Given the description of an element on the screen output the (x, y) to click on. 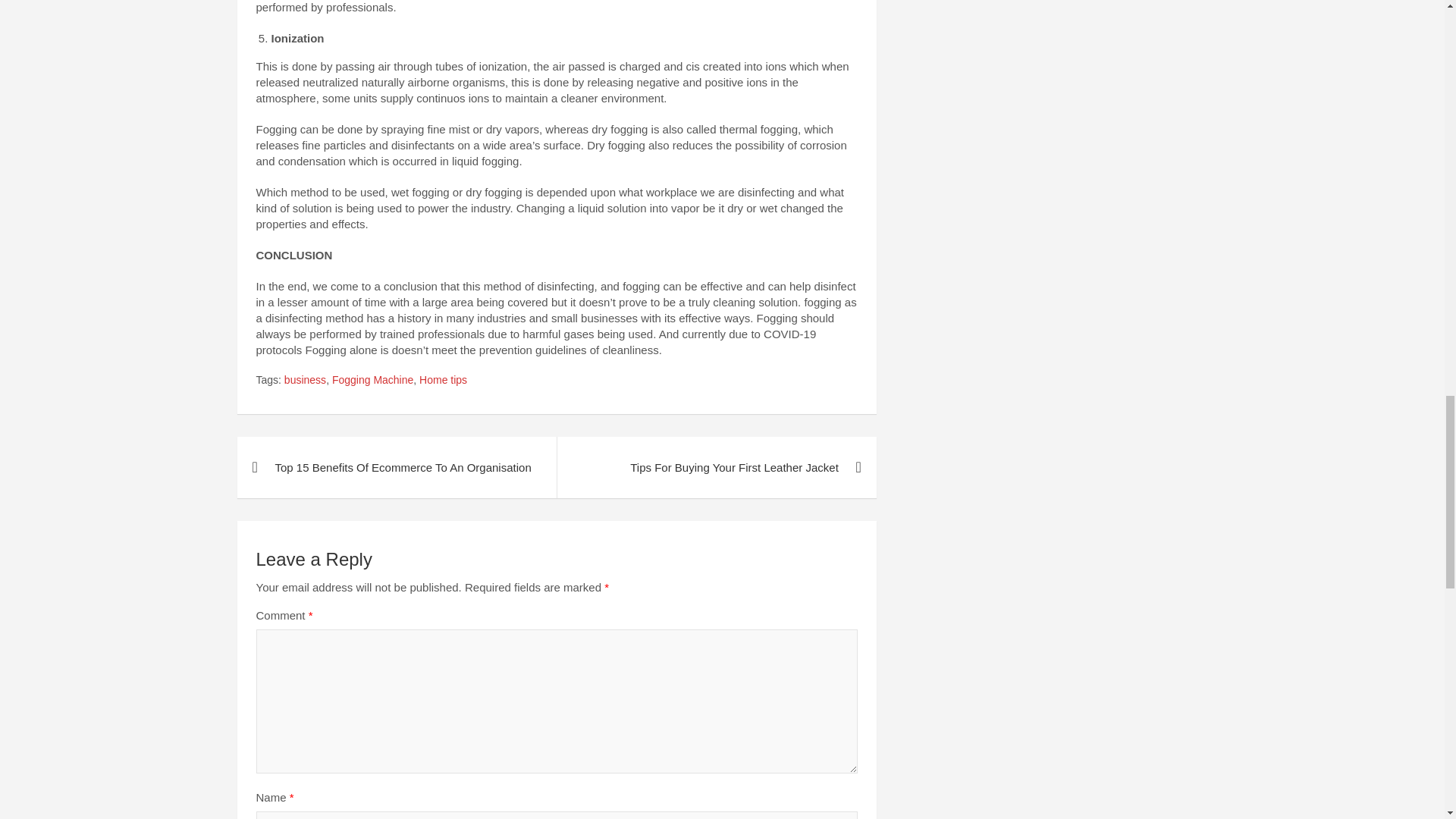
Tips For Buying Your First Leather Jacket (716, 466)
business (304, 380)
Home tips (443, 380)
Fogging Machine (372, 380)
Top 15 Benefits Of Ecommerce To An Organisation (395, 466)
